Given the description of an element on the screen output the (x, y) to click on. 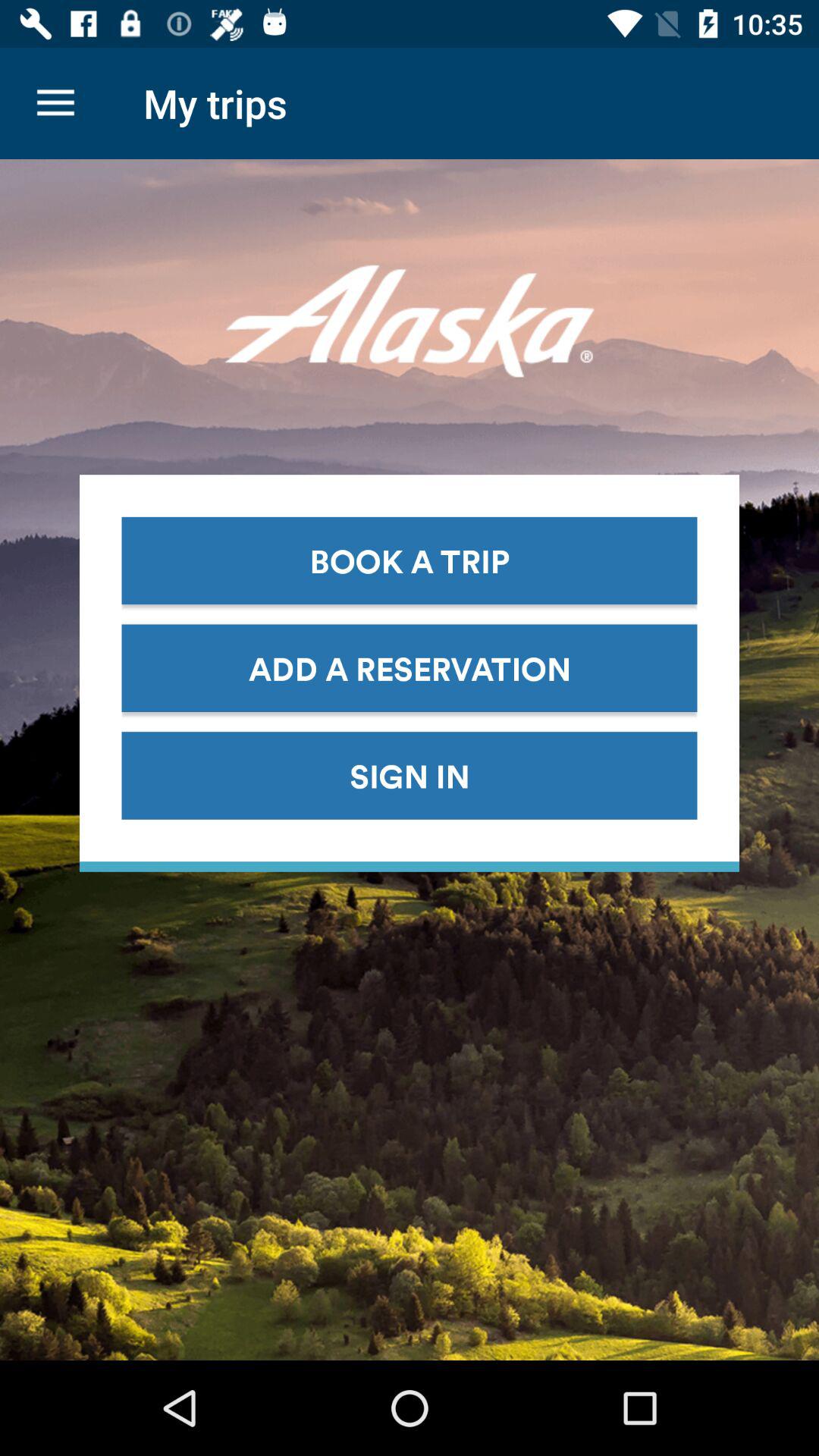
press the item above the add a reservation icon (409, 560)
